Given the description of an element on the screen output the (x, y) to click on. 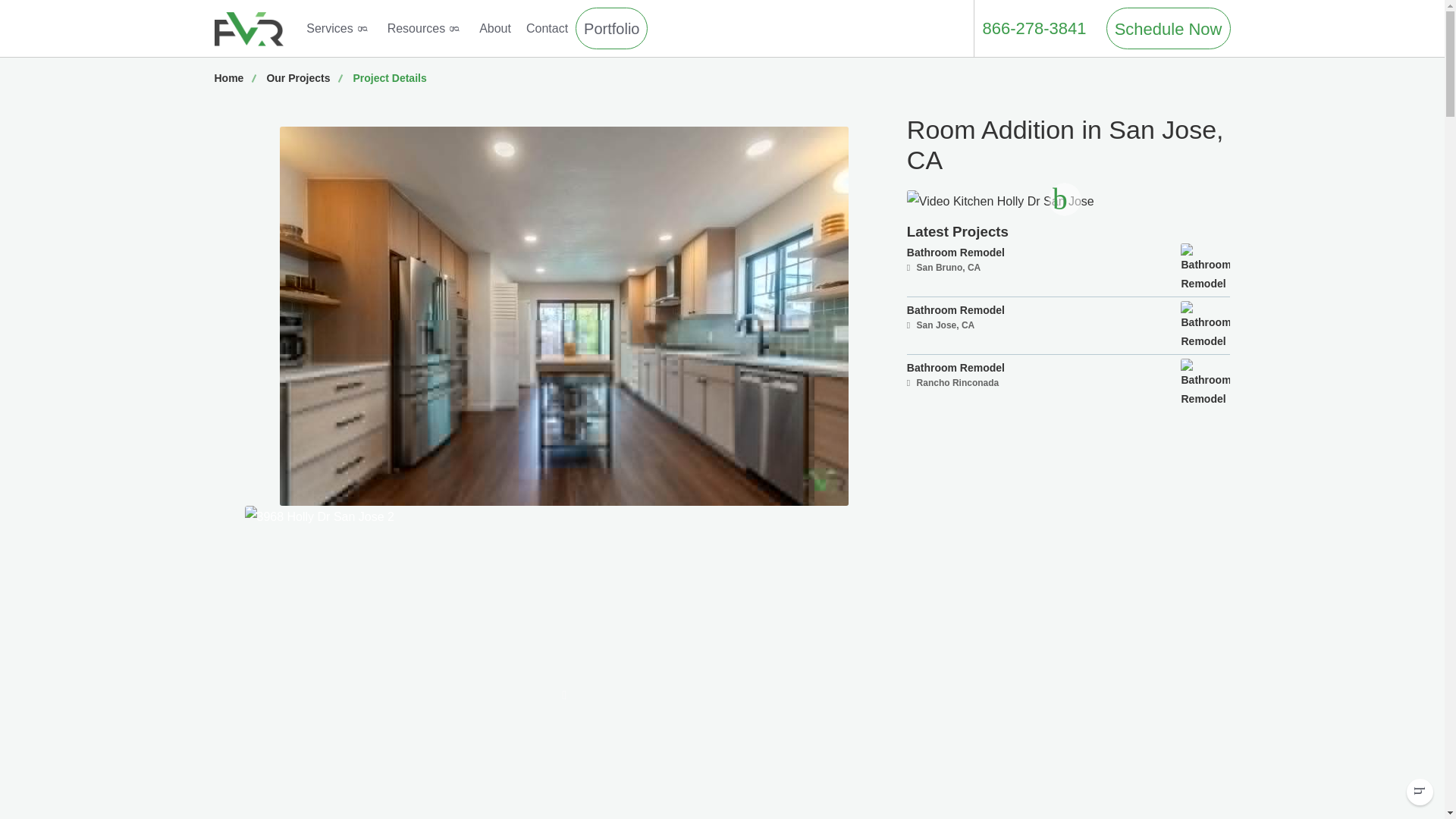
Schedule Now (1068, 267)
Services (1168, 28)
866-278-3841 (338, 28)
Portfolio (1033, 28)
Our Projects (611, 28)
Contact (303, 77)
Resources (1068, 325)
Project Details (546, 28)
